Given the description of an element on the screen output the (x, y) to click on. 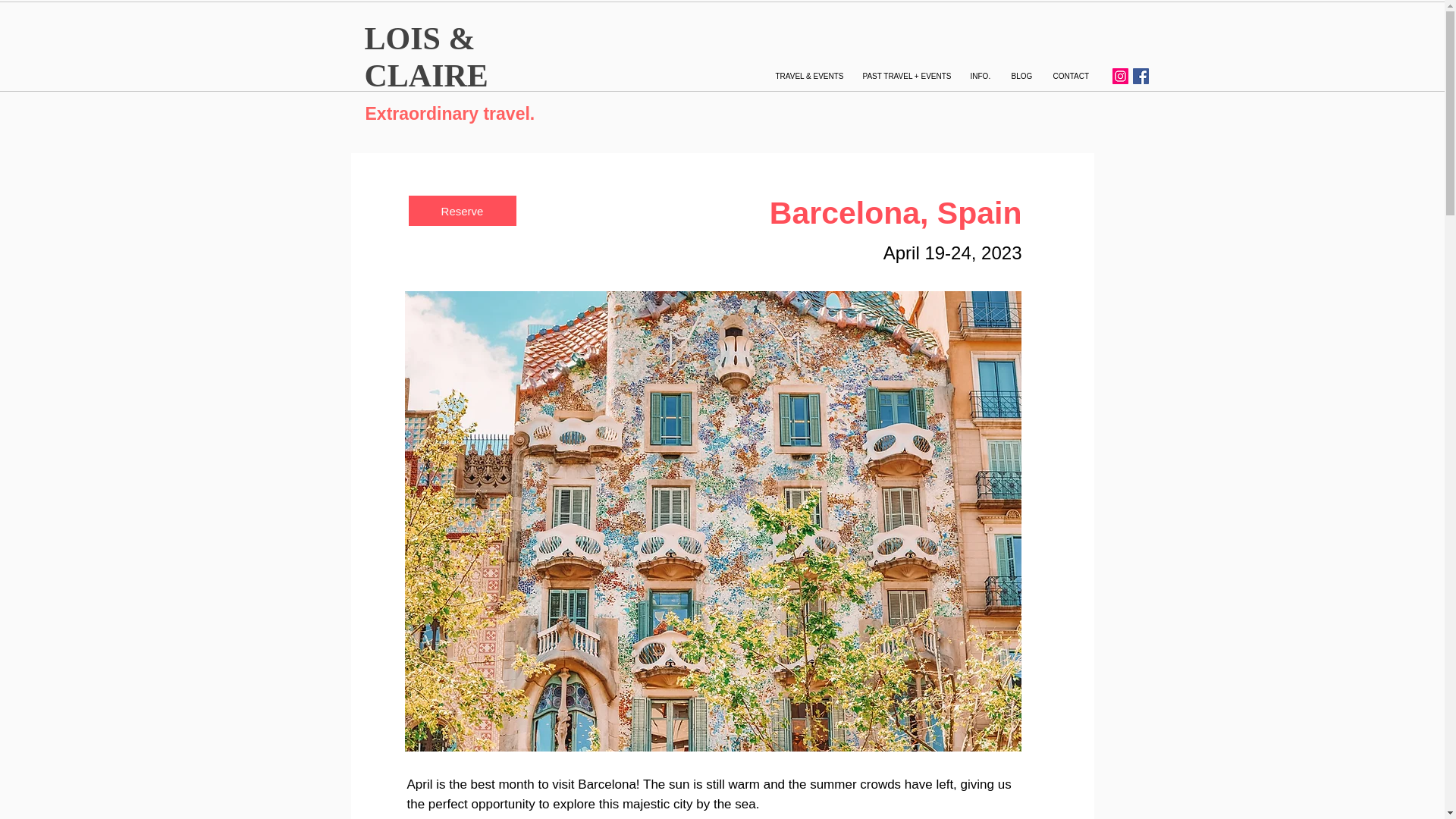
CONTACT (1070, 76)
Reserve (461, 210)
BLOG (1019, 76)
